Given the description of an element on the screen output the (x, y) to click on. 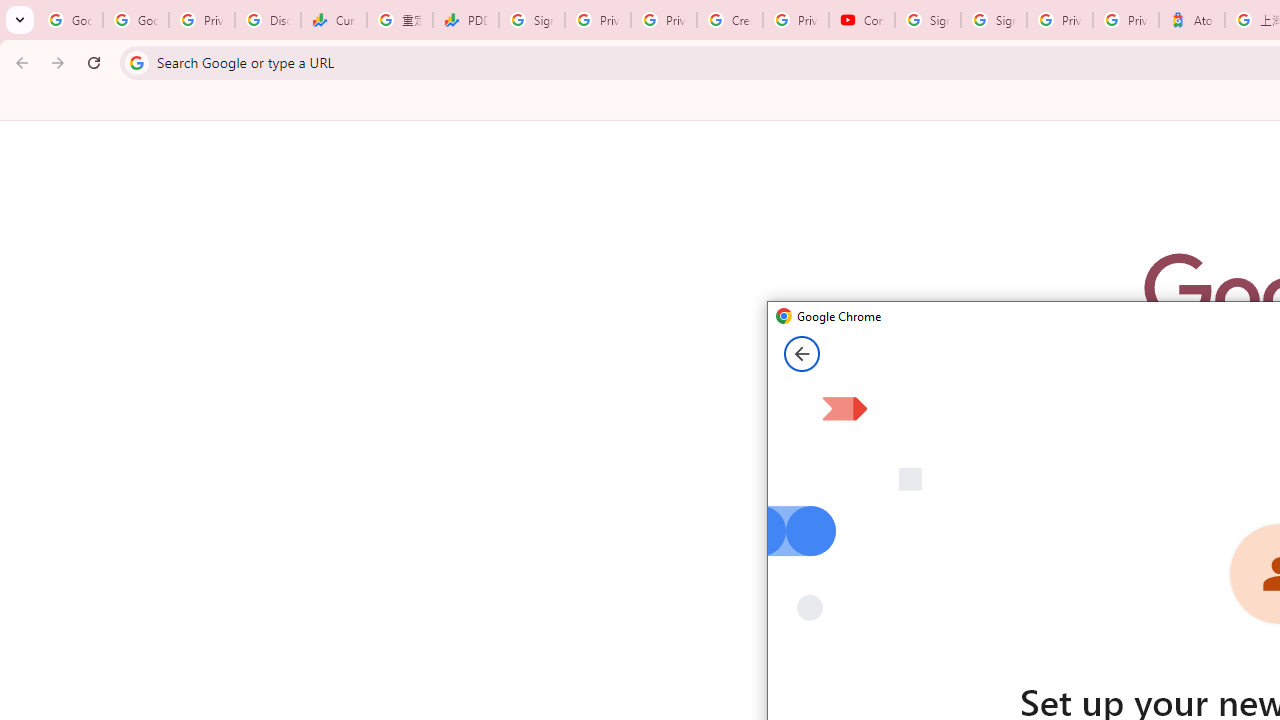
Sign in - Google Accounts (993, 20)
Privacy Checkup (664, 20)
Back from Set up your new Chrome profile page (801, 354)
Content Creator Programs & Opportunities - YouTube Creators (861, 20)
